Given the description of an element on the screen output the (x, y) to click on. 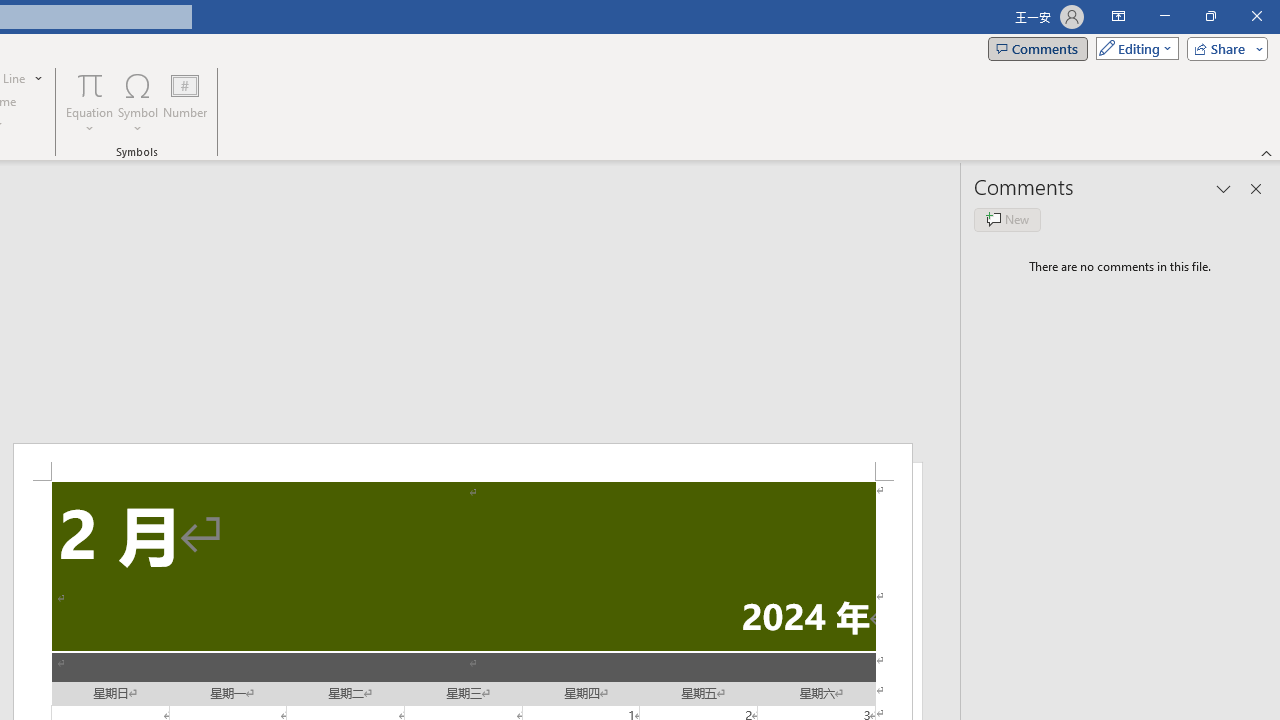
New comment (1007, 219)
Equation (90, 102)
Number... (185, 102)
Symbol (138, 102)
Header -Section 2- (462, 461)
